Given the description of an element on the screen output the (x, y) to click on. 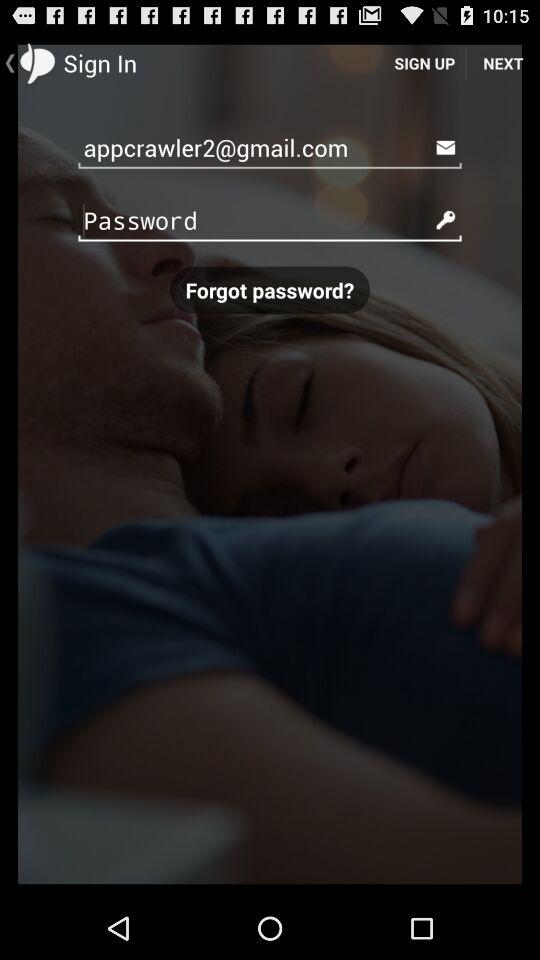
open next (503, 62)
